Given the description of an element on the screen output the (x, y) to click on. 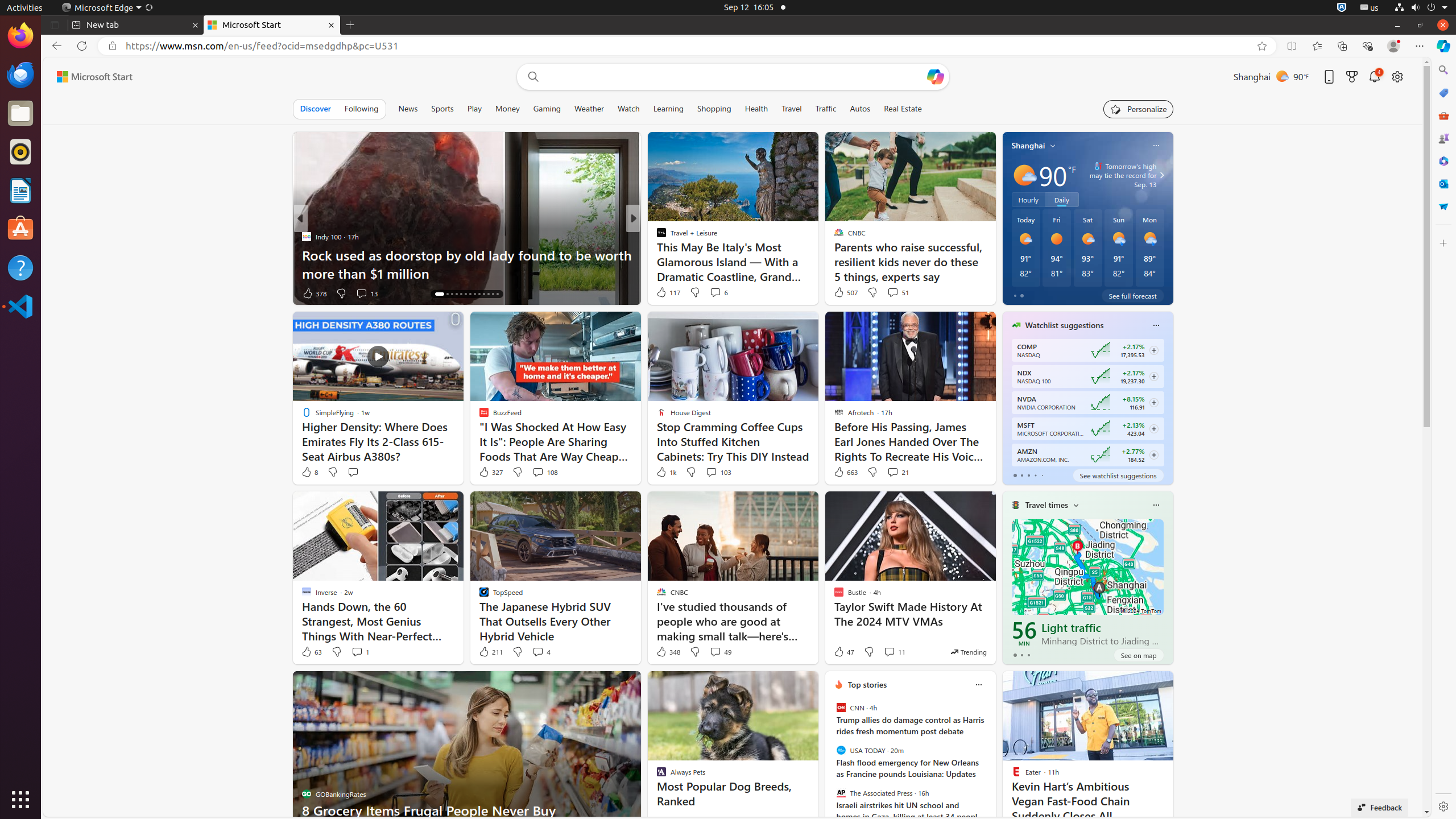
Terms of use Element type: link (1225, 809)
:1.72/StatusNotifierItem Element type: menu (1341, 7)
View comments 6 Comment Element type: link (718, 292)
View comments 46 Comment Element type: link (716, 292)
137 Like Element type: toggle-button (664, 292)
